Given the description of an element on the screen output the (x, y) to click on. 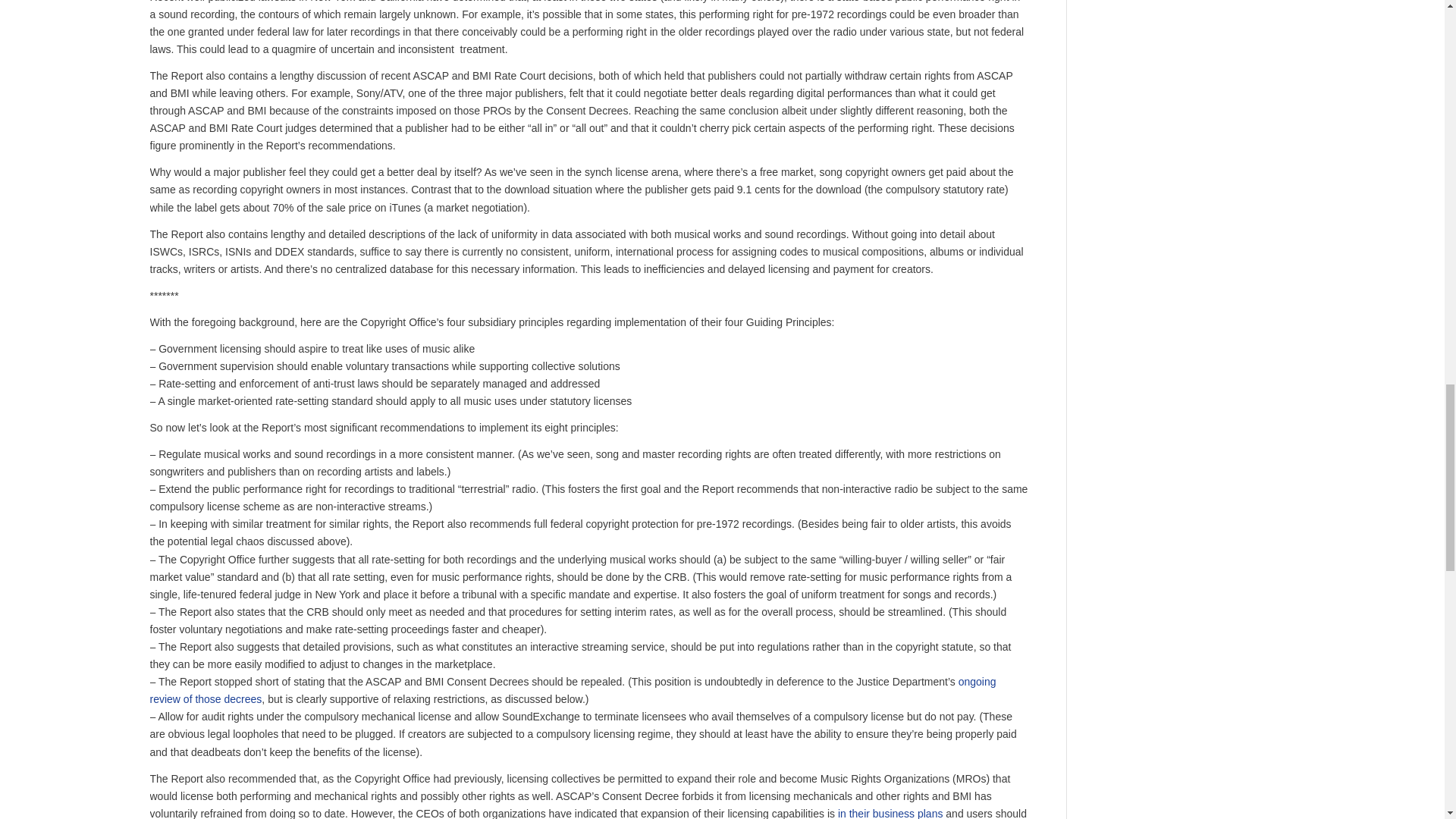
Post on DOJ Consent Decree Review (572, 690)
in their business plans (890, 813)
AIMP Panel with PRO CEOs (890, 813)
ongoing review of those decrees (572, 690)
